Given the description of an element on the screen output the (x, y) to click on. 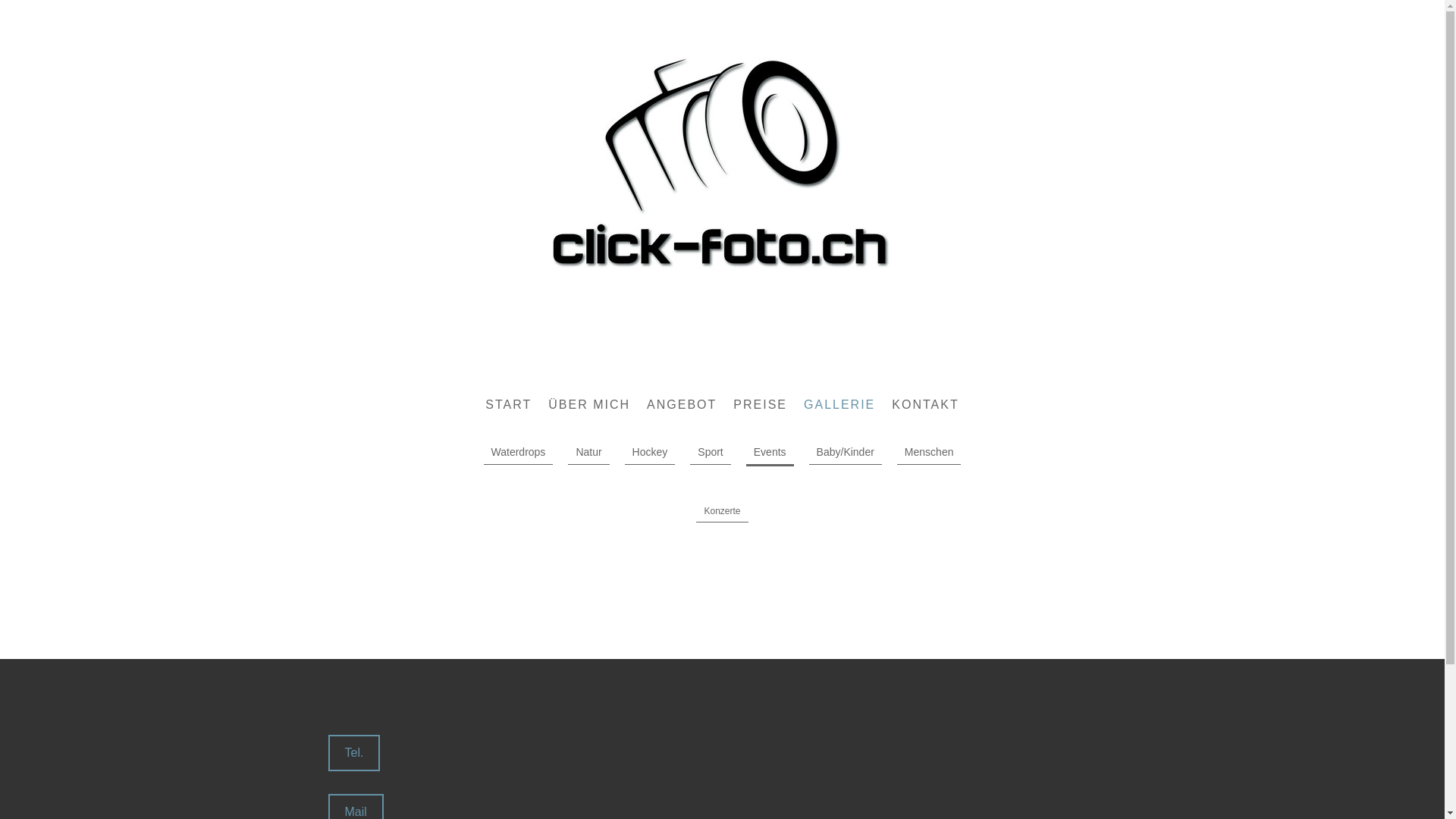
Menschen Element type: text (929, 452)
ANGEBOT Element type: text (681, 404)
GALLERIE Element type: text (839, 404)
Konzerte Element type: text (721, 511)
Events Element type: text (769, 453)
Waterdrops Element type: text (518, 452)
Hockey Element type: text (649, 452)
Tel. Element type: text (353, 752)
Natur Element type: text (587, 452)
Sport Element type: text (710, 452)
PREISE Element type: text (759, 404)
START Element type: text (507, 404)
Baby/Kinder Element type: text (845, 452)
KONTAKT Element type: text (924, 404)
